Given the description of an element on the screen output the (x, y) to click on. 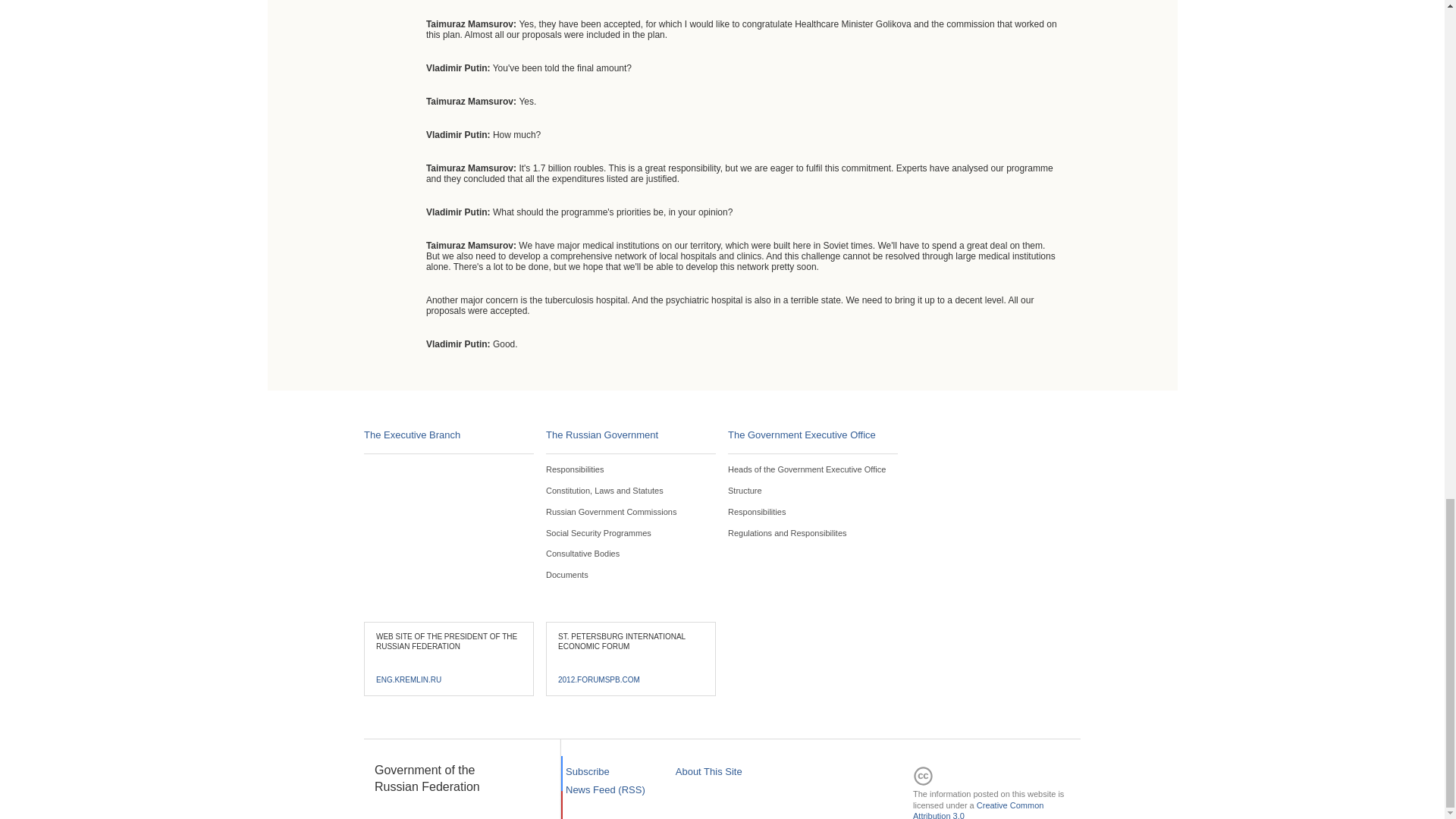
Heads of the Government Executive Office (806, 469)
Regulations and Responsibilites (787, 532)
Constitution, Laws and Statutes (604, 490)
Consultative Bodies (583, 552)
Russian Government Commissions (611, 511)
Structure (744, 490)
The Government Executive Office (802, 434)
Subscribe (588, 771)
The Russian Government (602, 434)
About This Site (708, 771)
Responsibilities (757, 511)
The Executive Branch (412, 434)
Responsibilities (575, 469)
